Given the description of an element on the screen output the (x, y) to click on. 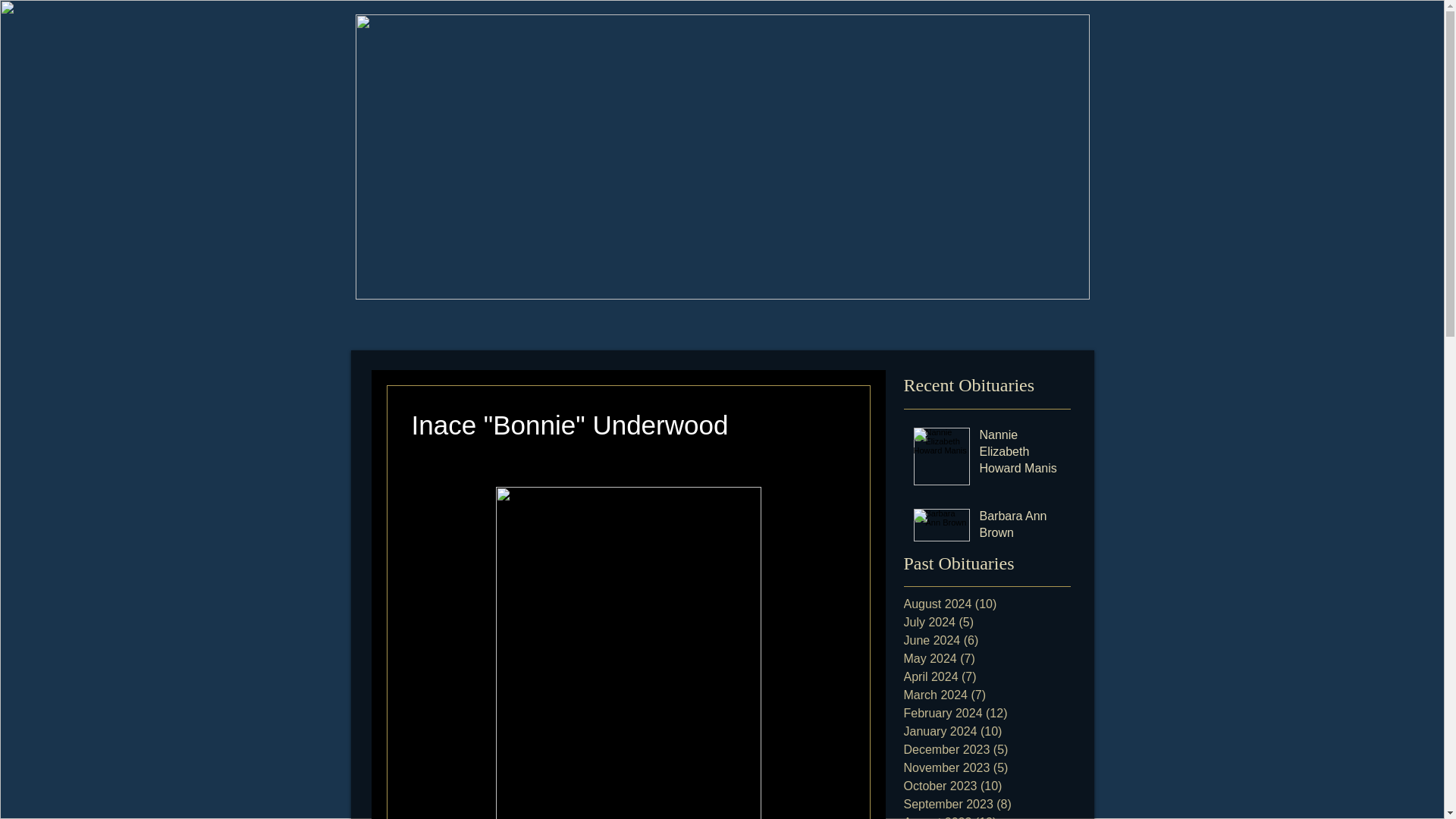
Nannie Elizabeth Howard Manis (1020, 455)
Barbara Ann Brown (1020, 527)
